Given the description of an element on the screen output the (x, y) to click on. 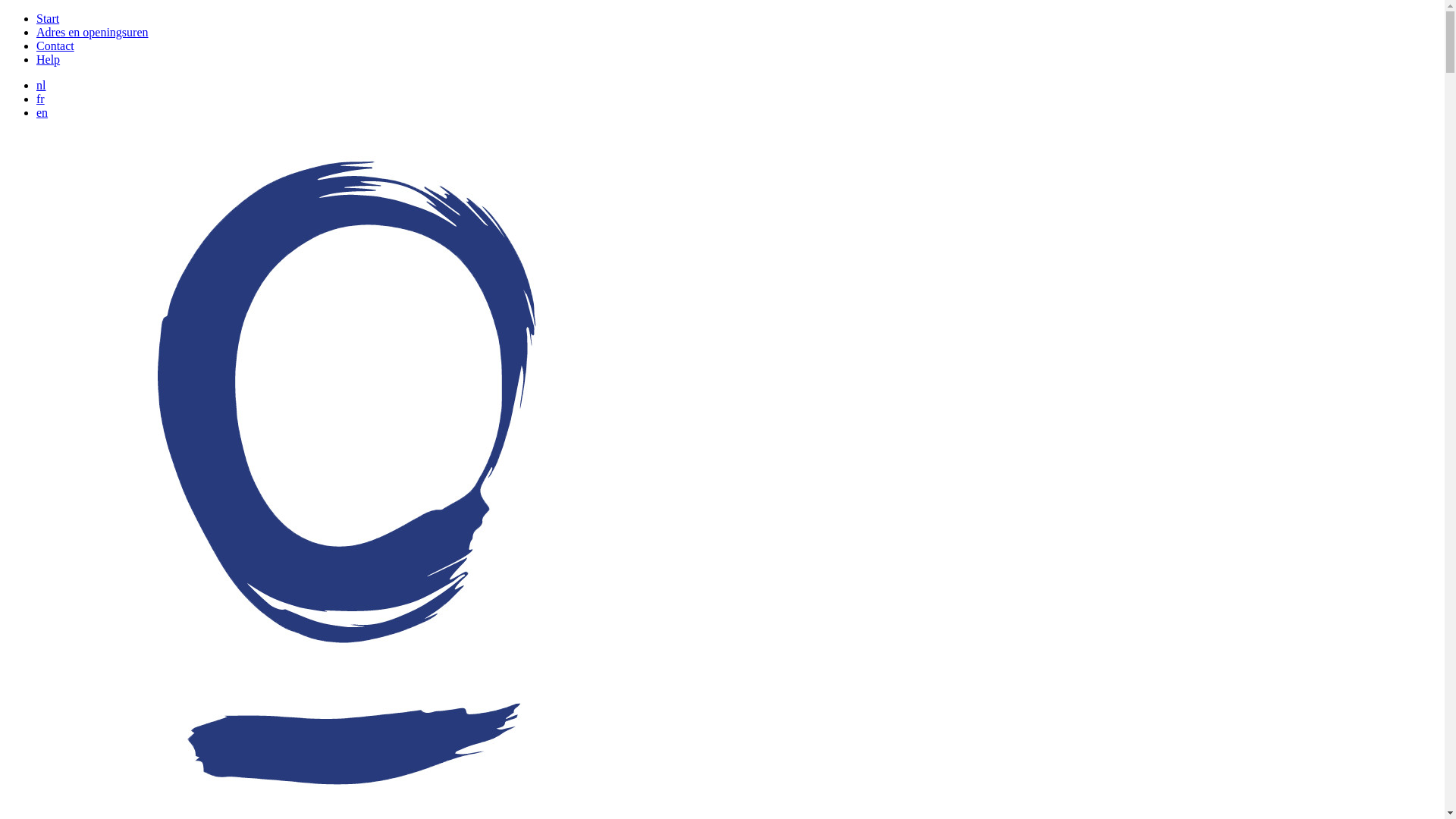
Overslaan en naar zoeken gaan Element type: text (6, 12)
Start Element type: text (47, 18)
Help Element type: text (47, 59)
fr Element type: text (40, 98)
nl Element type: text (40, 84)
Home Element type: hover (347, 809)
en Element type: text (41, 112)
Contact Element type: text (55, 45)
Adres en openingsuren Element type: text (92, 31)
